Given the description of an element on the screen output the (x, y) to click on. 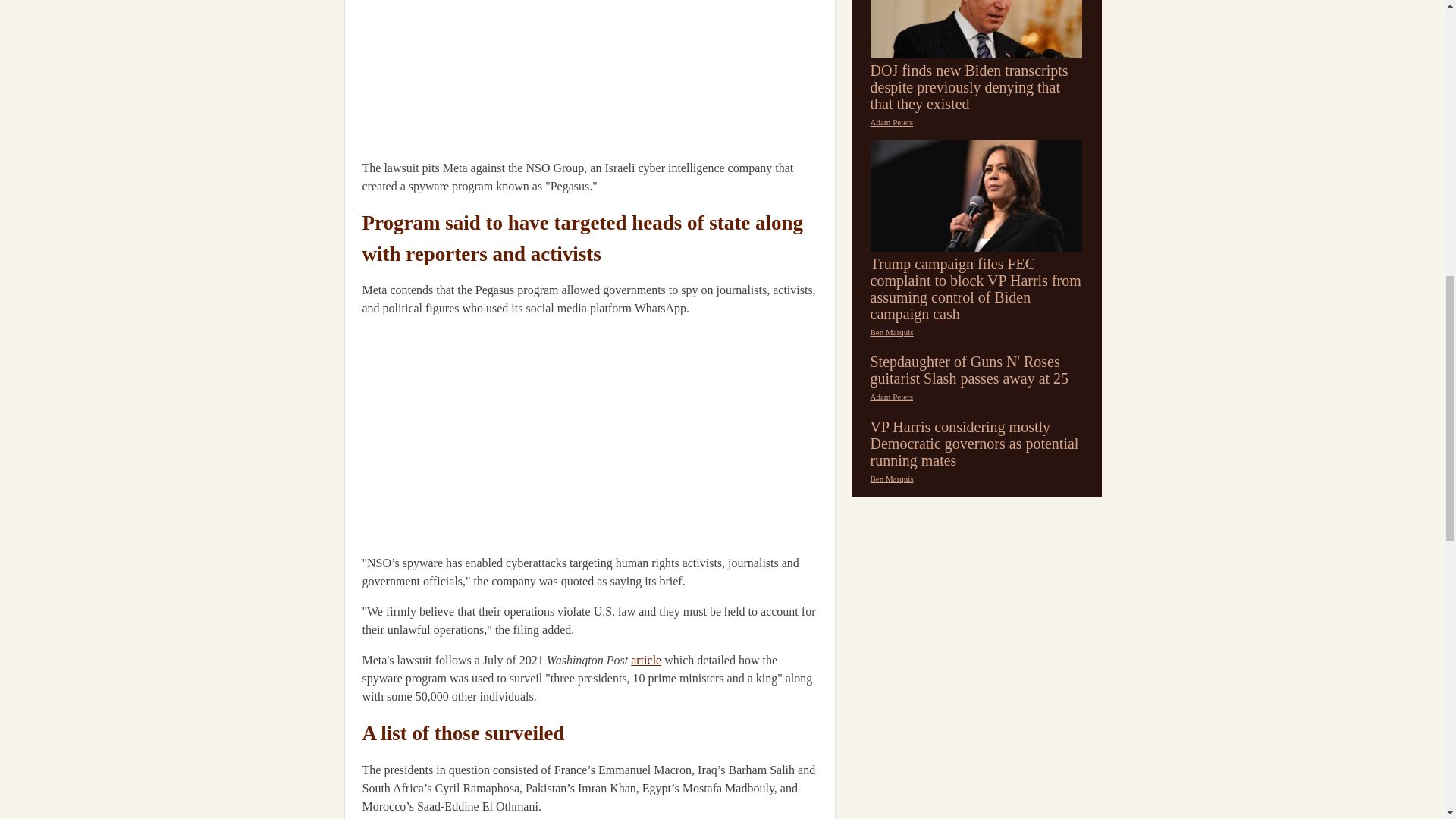
Adam Peters (892, 396)
Ben Marquis (892, 332)
Ben Marquis (892, 478)
Adam Peters (892, 122)
article (645, 659)
